Given the description of an element on the screen output the (x, y) to click on. 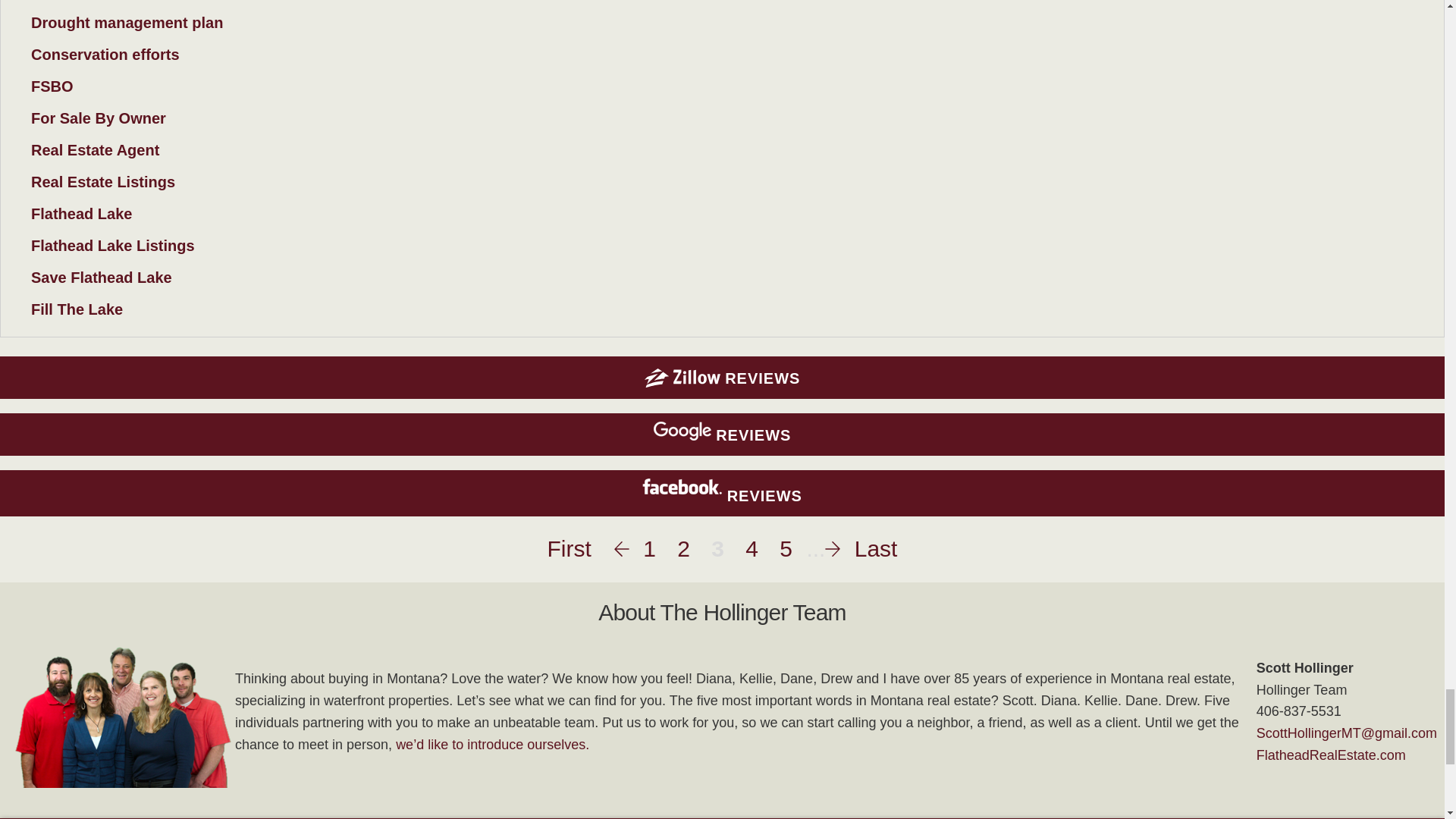
ZILLOW (682, 378)
